Given the description of an element on the screen output the (x, y) to click on. 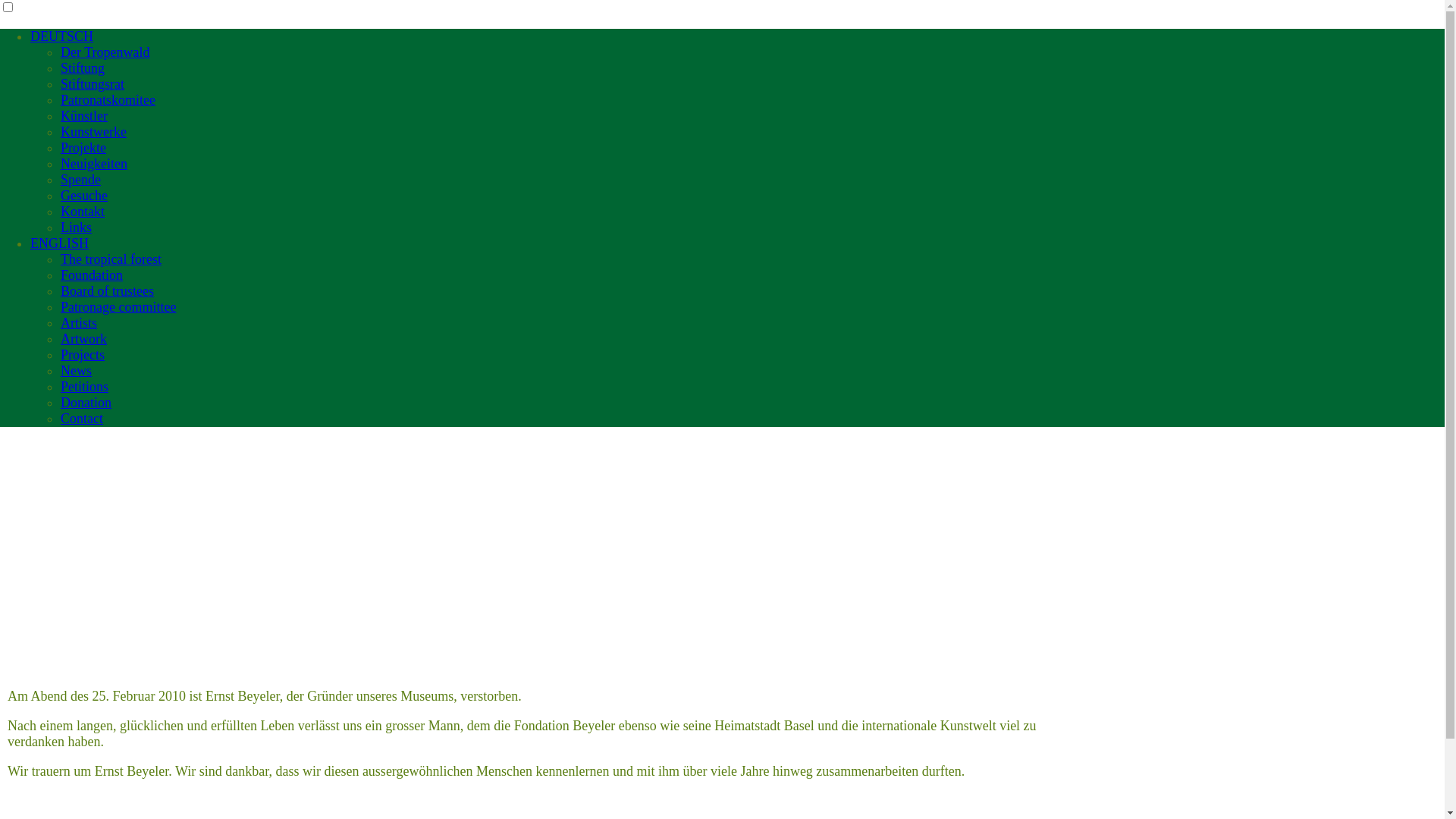
News Element type: text (75, 370)
Kunstwerke Element type: text (93, 131)
Kontakt Element type: text (82, 211)
Stiftungsrat Element type: text (92, 83)
Petitions Element type: text (84, 386)
DEUTSCH Element type: text (61, 35)
The tropical forest Element type: text (110, 258)
Foundation Element type: text (91, 274)
Board of trustees Element type: text (106, 290)
Patronage committee Element type: text (117, 306)
Stiftung Element type: text (82, 67)
ENGLISH Element type: text (59, 243)
Donation Element type: text (85, 402)
Spende Element type: text (80, 179)
Patronatskomitee Element type: text (107, 99)
Projekte Element type: text (83, 147)
Projects Element type: text (82, 354)
Gesuche Element type: text (83, 195)
Links Element type: text (75, 227)
Contact Element type: text (81, 418)
Artists Element type: text (78, 322)
Der Tropenwald Element type: text (105, 51)
Artwork Element type: text (83, 338)
Neuigkeiten Element type: text (93, 163)
